Given the description of an element on the screen output the (x, y) to click on. 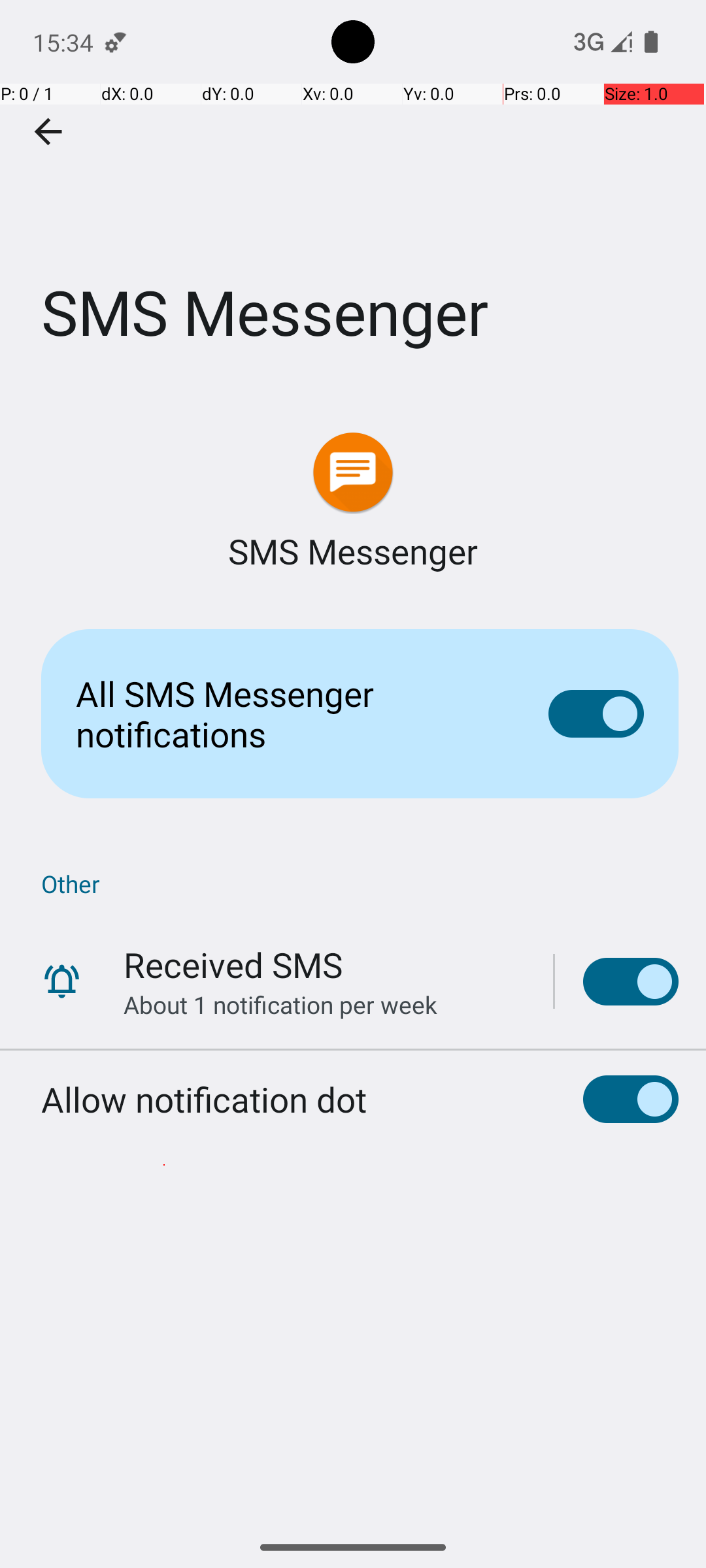
All SMS Messenger notifications Element type: android.widget.TextView (291, 713)
Received SMS Element type: android.widget.TextView (232, 964)
About 1 notification per week Element type: android.widget.TextView (280, 1004)
